Given the description of an element on the screen output the (x, y) to click on. 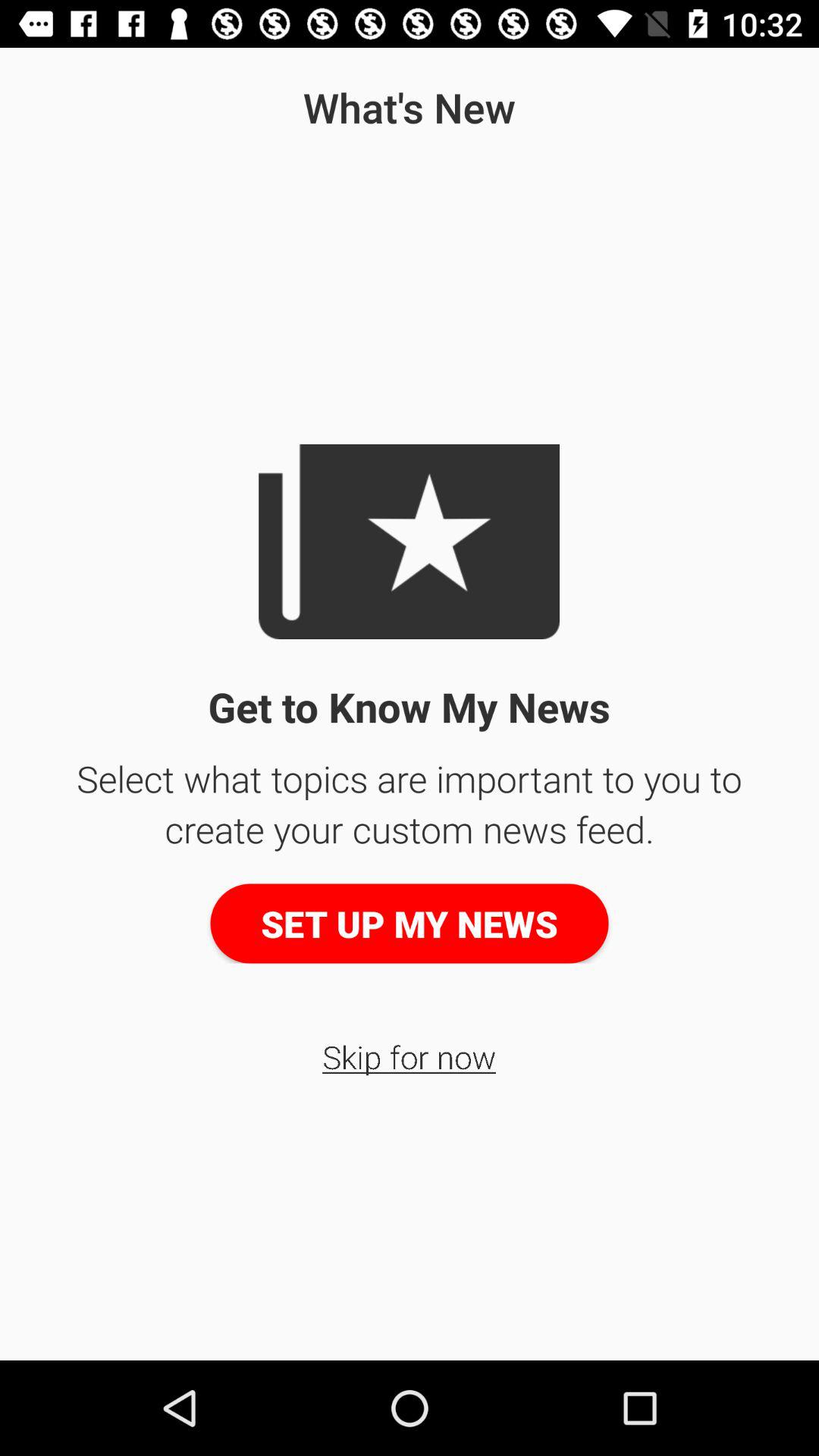
select the item below set up my (408, 1056)
